Given the description of an element on the screen output the (x, y) to click on. 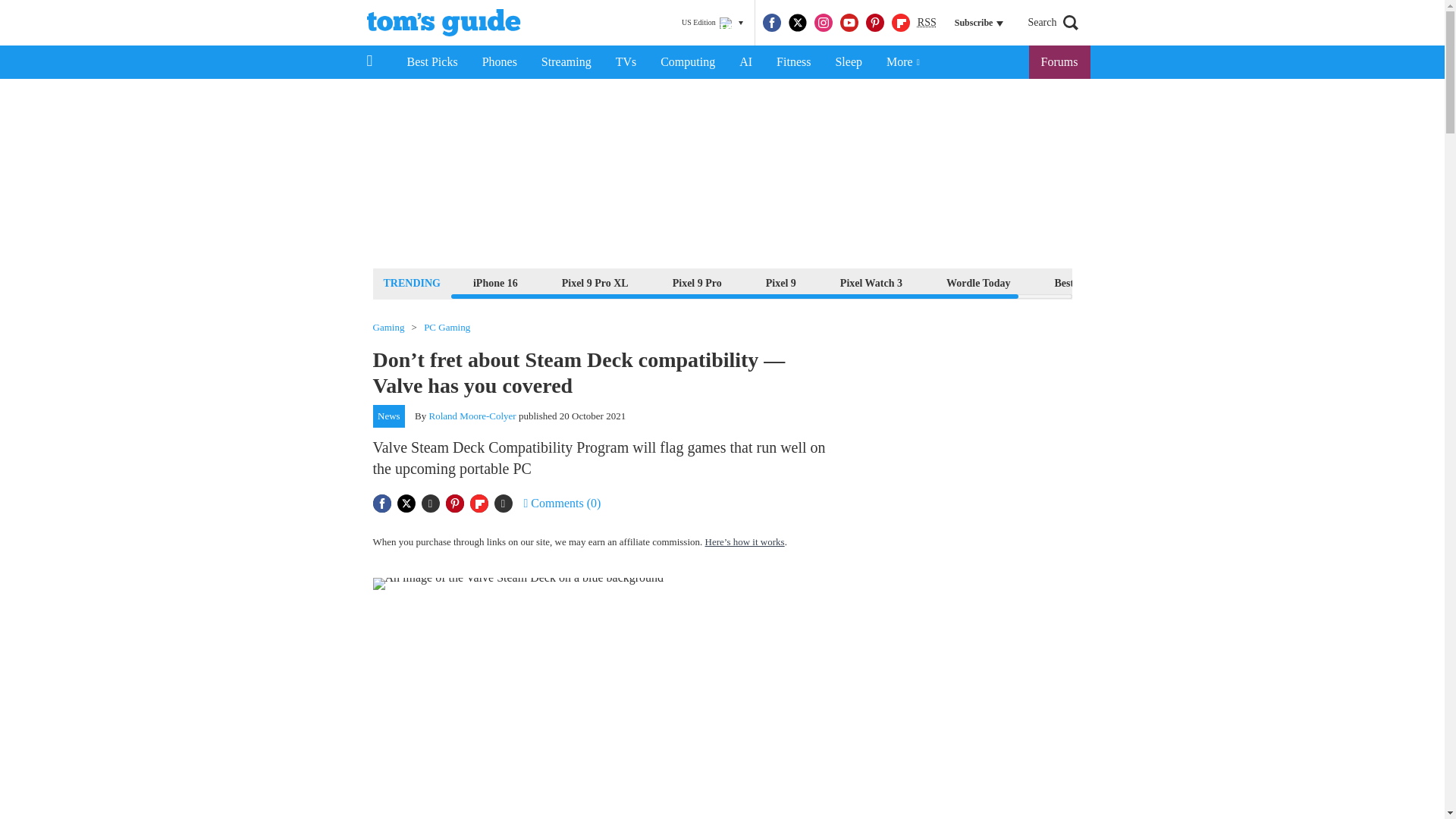
Streaming (566, 61)
AI (745, 61)
Fitness (793, 61)
TVs (626, 61)
RSS (926, 22)
Phones (499, 61)
Really Simple Syndication (926, 21)
Best Picks (431, 61)
US Edition (712, 22)
Computing (686, 61)
